Given the description of an element on the screen output the (x, y) to click on. 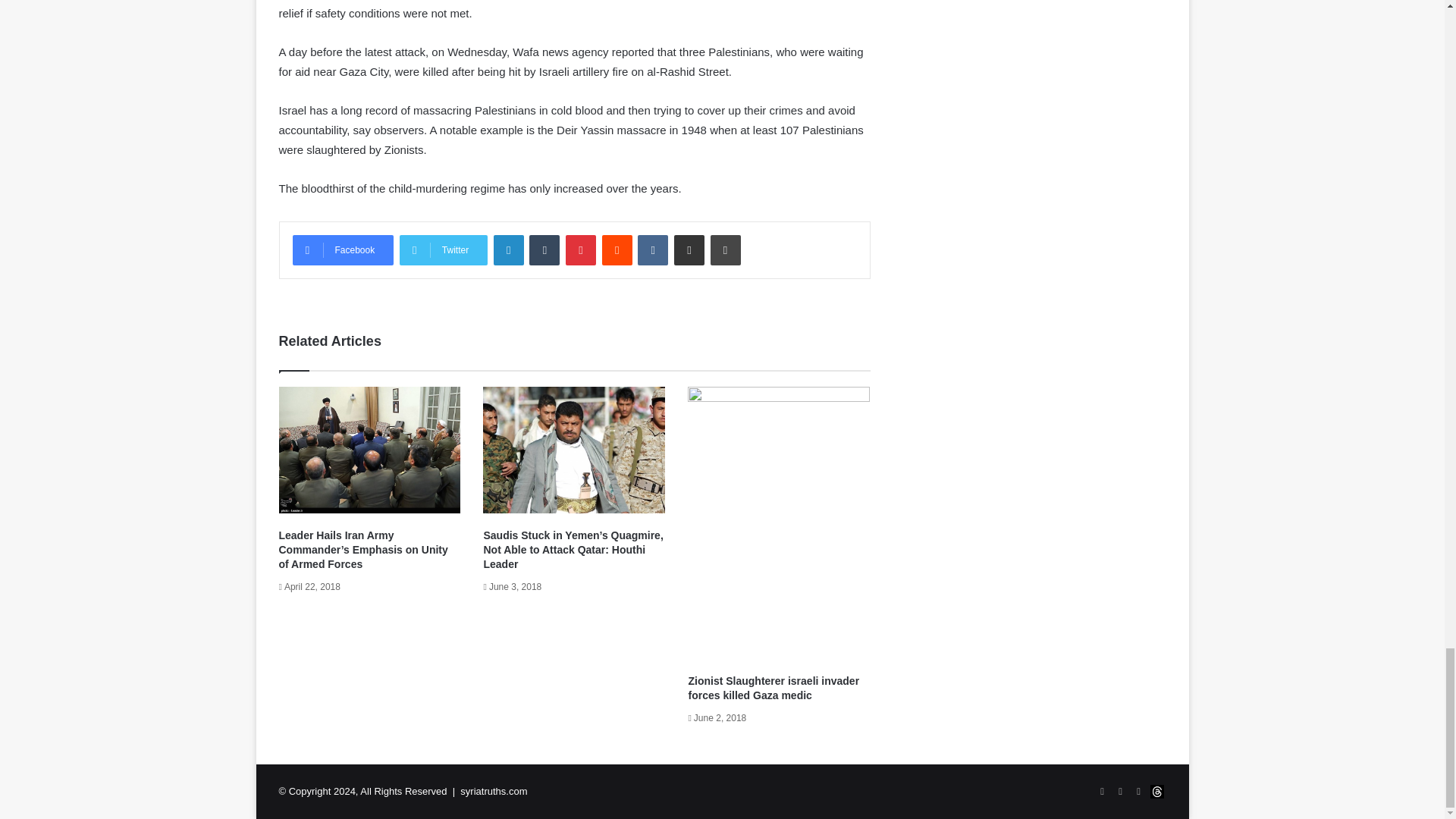
VKontakte (652, 250)
Twitter (442, 250)
LinkedIn (508, 250)
Share via Email (689, 250)
Pinterest (580, 250)
Tumblr (544, 250)
Print (725, 250)
Facebook (343, 250)
Reddit (616, 250)
